Given the description of an element on the screen output the (x, y) to click on. 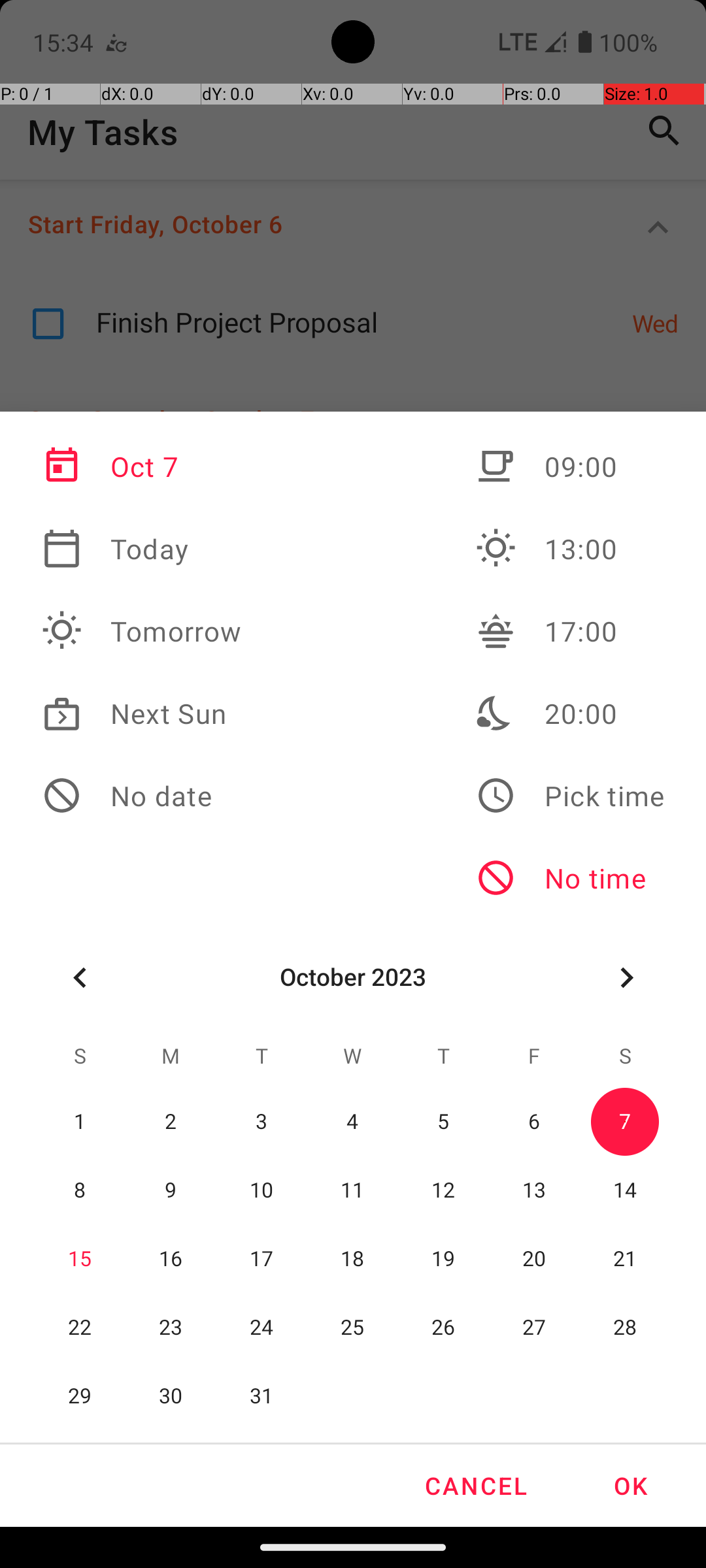
Oct 7 Element type: android.widget.CompoundButton (141, 466)
